Given the description of an element on the screen output the (x, y) to click on. 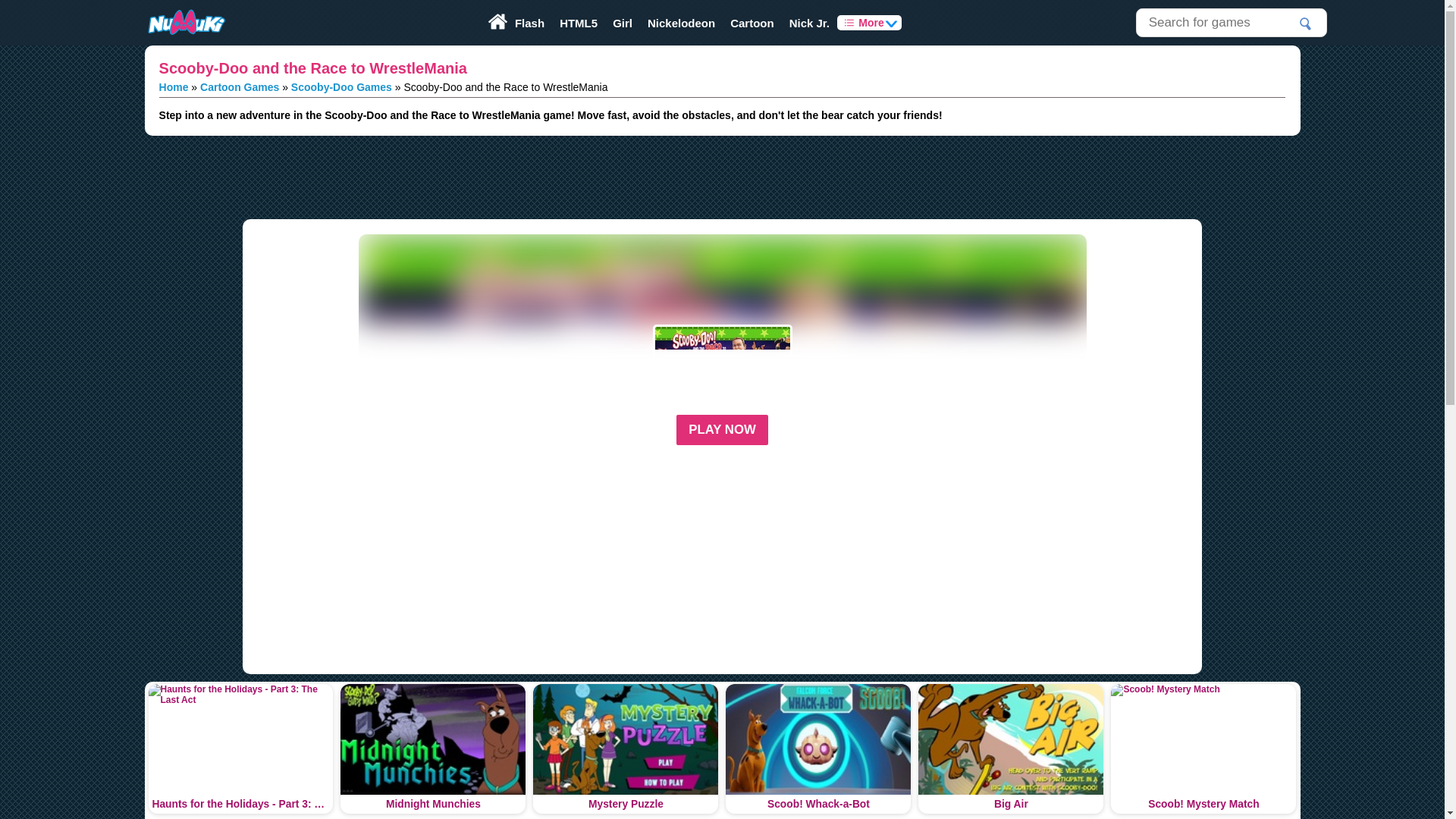
Nickelodeon Games (681, 22)
HTML5 (578, 22)
Cartoon Games (239, 87)
Cartoon Games (751, 22)
Flash (528, 22)
Home (173, 87)
Play Fun Browser Games (185, 22)
Nick Jr. (809, 22)
HTML5 Games (578, 22)
Girl Games (622, 22)
